Given the description of an element on the screen output the (x, y) to click on. 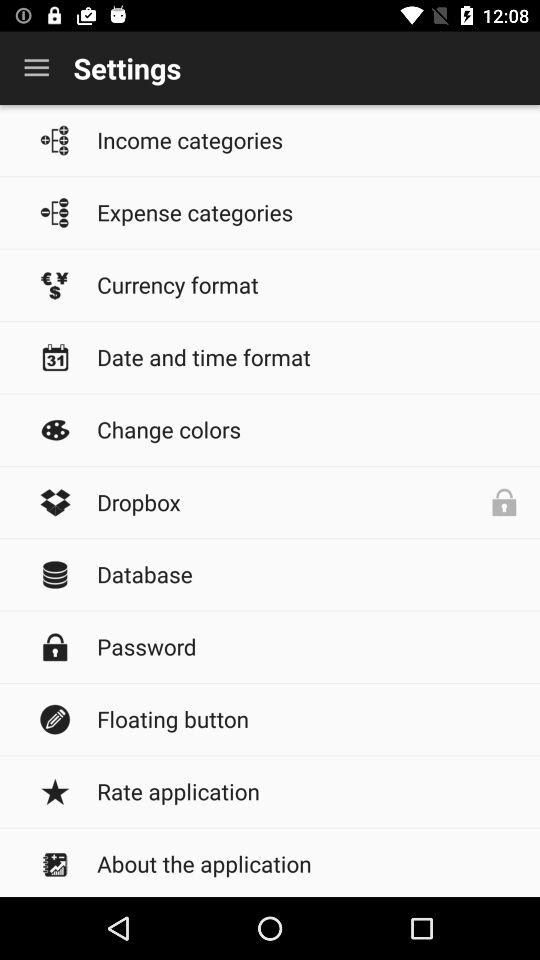
tap item below the settings (308, 139)
